Given the description of an element on the screen output the (x, y) to click on. 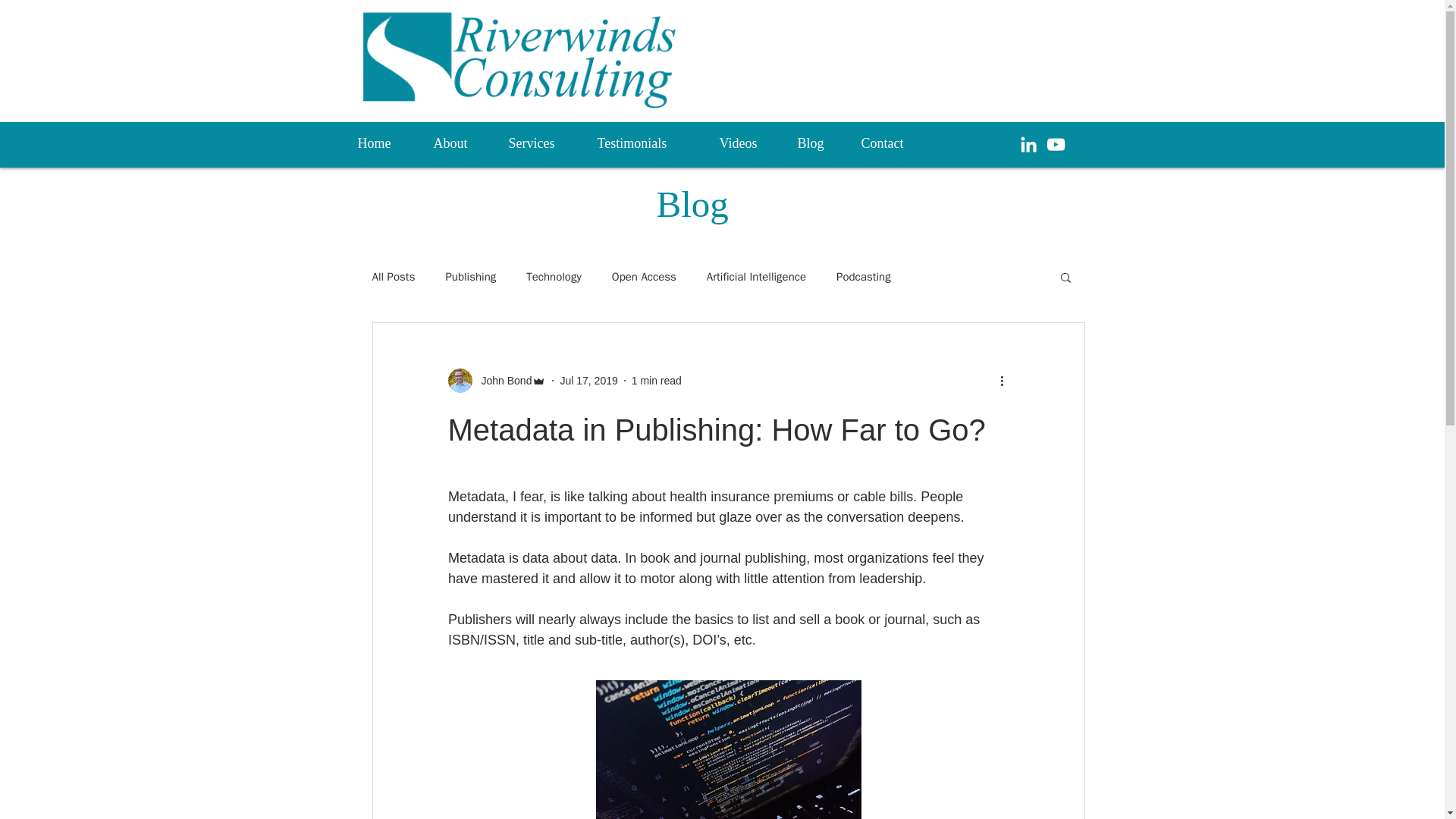
John Bond (496, 380)
Blog (817, 143)
Testimonials (646, 143)
Home (384, 143)
John Bond (501, 381)
Jul 17, 2019 (588, 380)
Open Access (644, 277)
Videos (746, 143)
All Posts (392, 277)
Contact (892, 143)
